Given the description of an element on the screen output the (x, y) to click on. 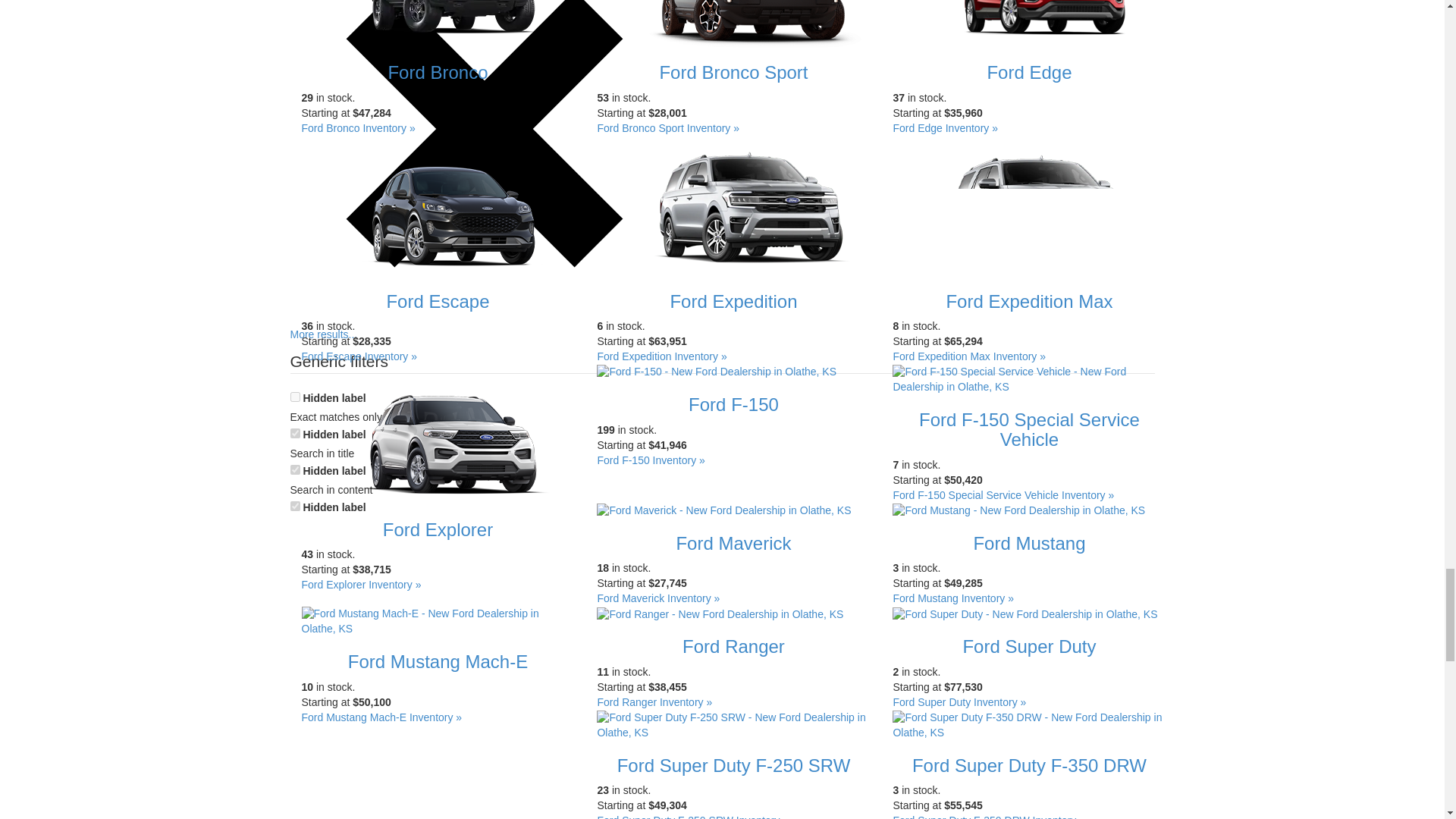
title (294, 433)
excerpt (294, 506)
content (294, 470)
exact (294, 397)
